Given the description of an element on the screen output the (x, y) to click on. 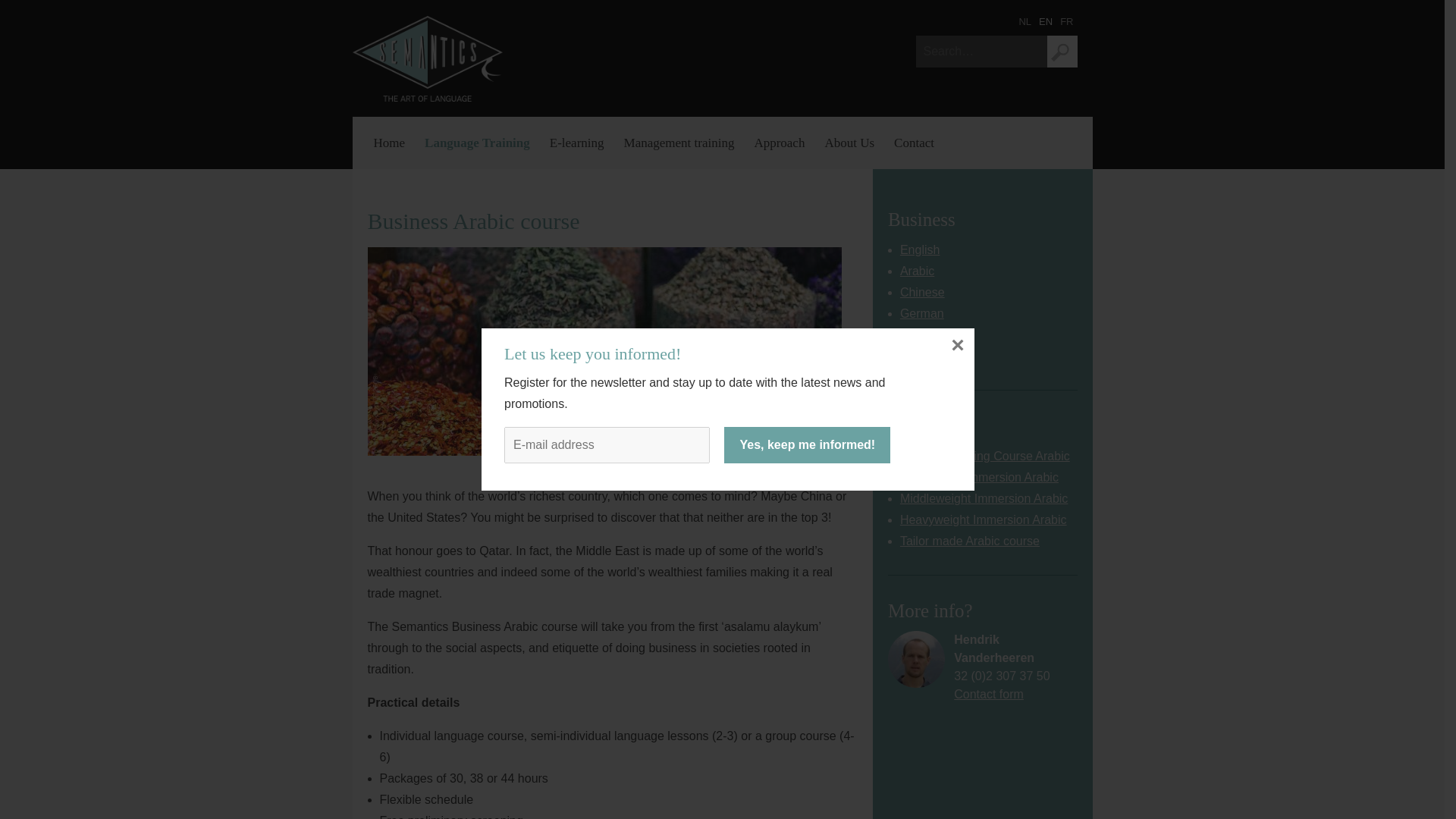
Lightweight Immersion Arabic (978, 477)
German (921, 313)
E-learning (577, 142)
Approach (778, 142)
Enter the terms you wish to search for. (980, 51)
English (919, 334)
Management training (679, 142)
French (918, 355)
Home (427, 58)
Heavyweight Immersion Arabic (983, 519)
Tailor made Arabic course (969, 540)
Search (1061, 51)
Yes, keep me informed! (806, 444)
Contact form (988, 694)
Semantics (427, 58)
